Given the description of an element on the screen output the (x, y) to click on. 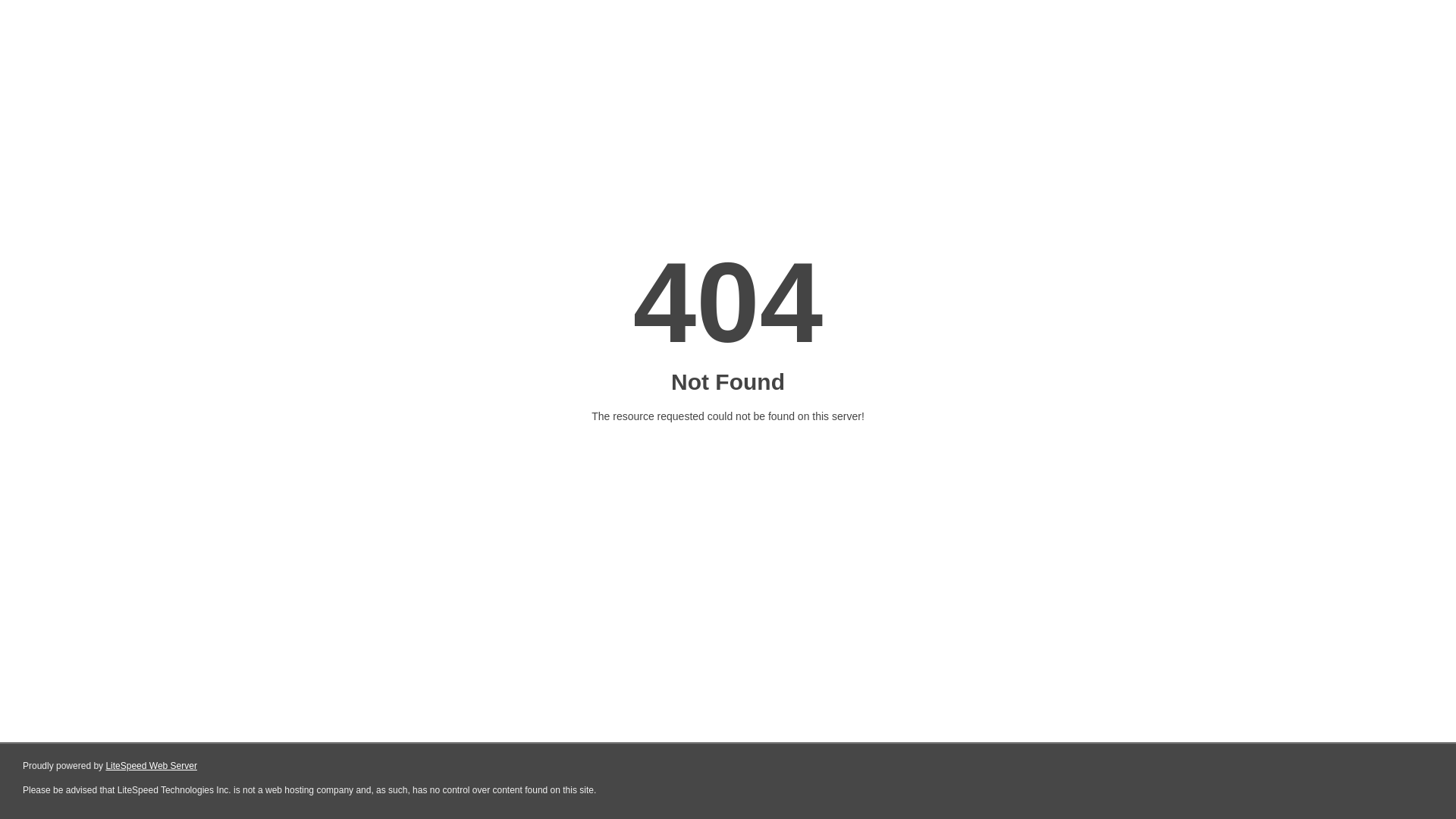
LiteSpeed Web Server Element type: text (151, 765)
